Given the description of an element on the screen output the (x, y) to click on. 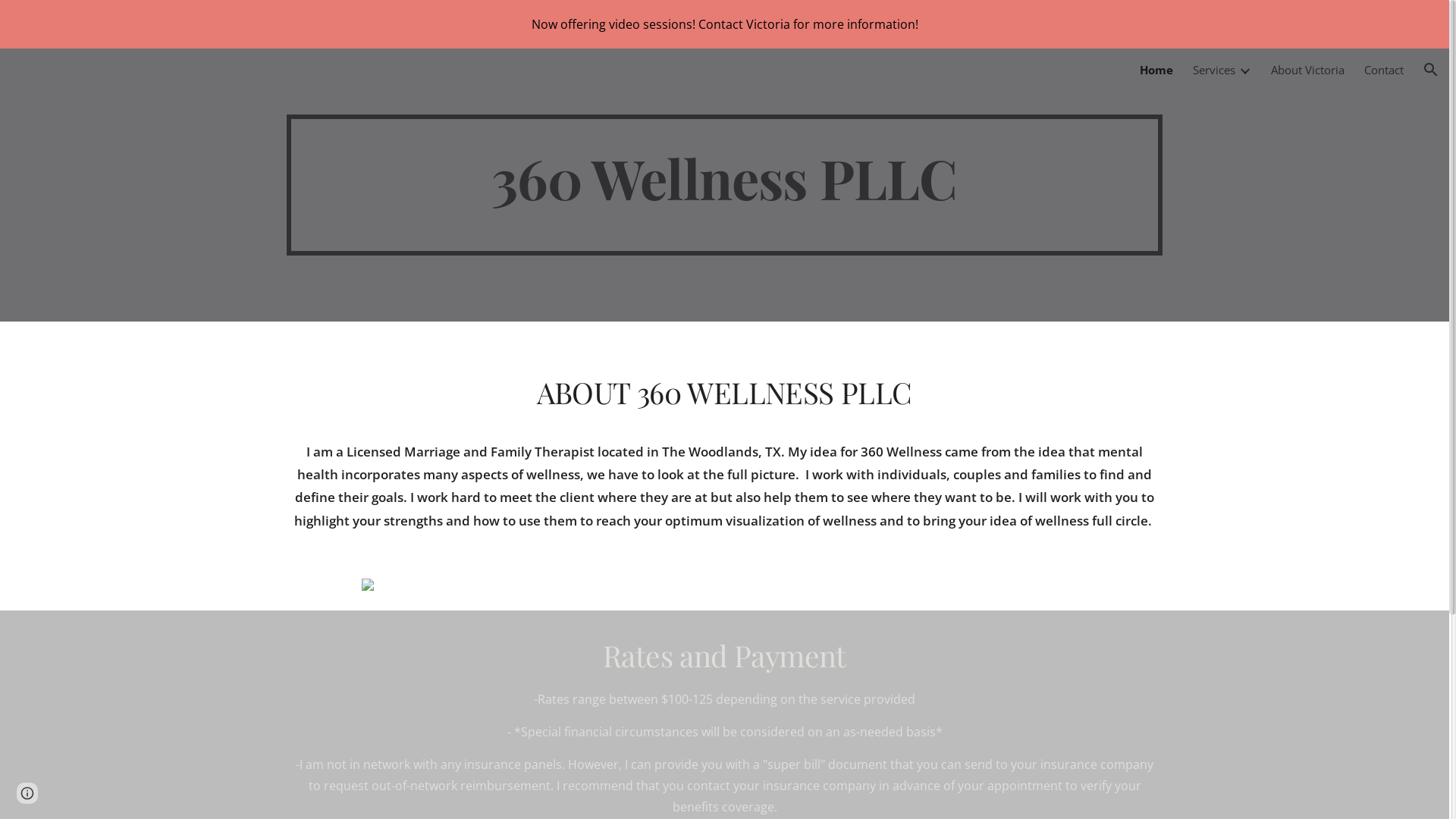
Expand/Collapse Element type: hover (1244, 69)
Services Element type: text (1213, 69)
Contact Element type: text (1383, 69)
About Victoria Element type: text (1307, 69)
Home Element type: text (1156, 69)
